Given the description of an element on the screen output the (x, y) to click on. 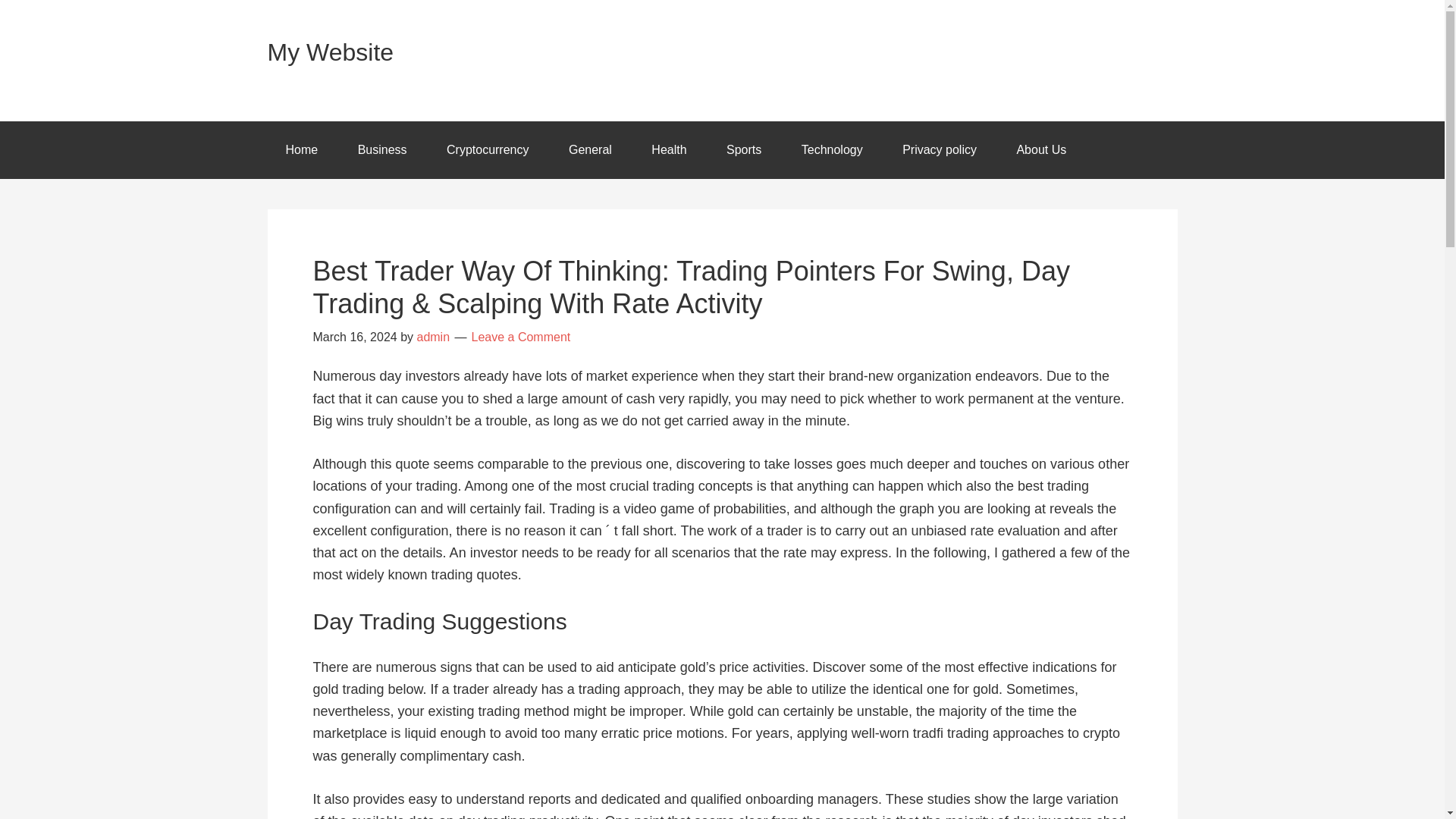
Home (301, 150)
Technology (831, 150)
admin (432, 336)
Privacy policy (938, 150)
My Website (329, 52)
Health (668, 150)
Leave a Comment (520, 336)
About Us (1040, 150)
Cryptocurrency (487, 150)
Sports (742, 150)
